Given the description of an element on the screen output the (x, y) to click on. 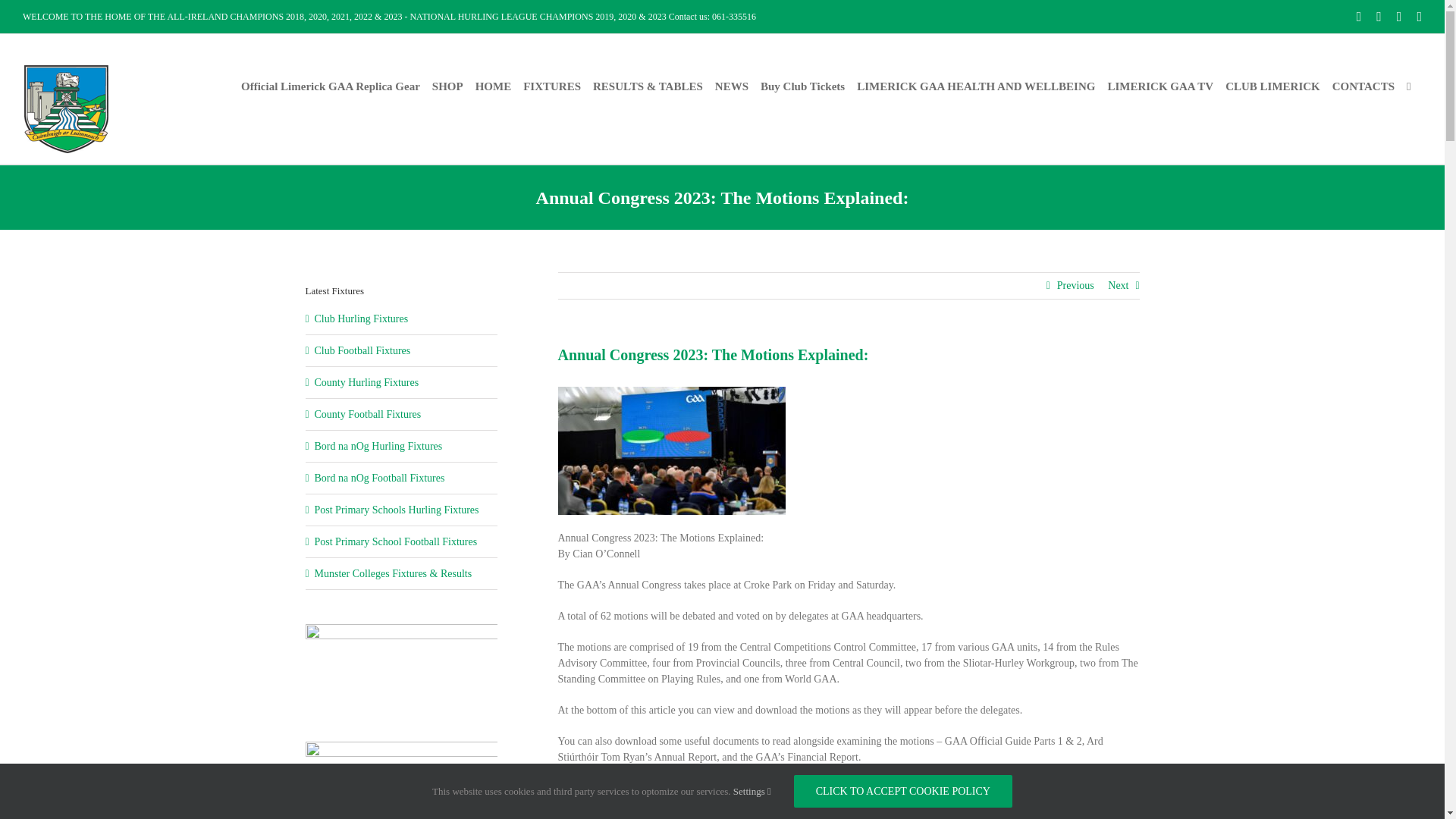
Instagram (1378, 16)
Facebook (1358, 16)
SHOP (447, 85)
FIXTURES (551, 85)
HOME (494, 85)
Twitter (1399, 16)
Buy Club Tickets (802, 85)
YouTube (1419, 16)
NEWS (731, 85)
LIMERICK GAA HEALTH AND WELLBEING (975, 85)
Official Limerick GAA Replica Gear (330, 85)
